Given the description of an element on the screen output the (x, y) to click on. 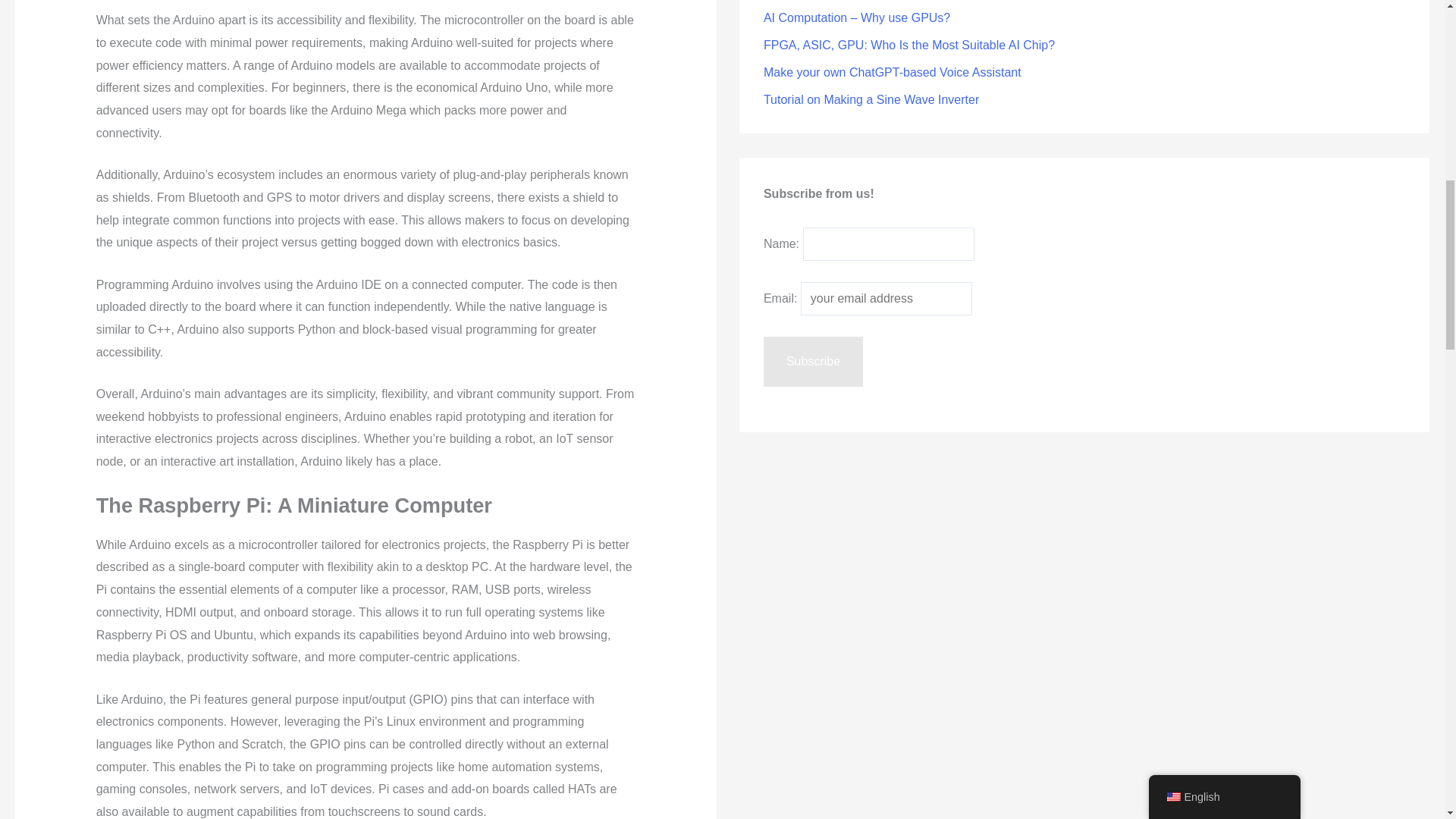
Subscribe (812, 361)
